Given the description of an element on the screen output the (x, y) to click on. 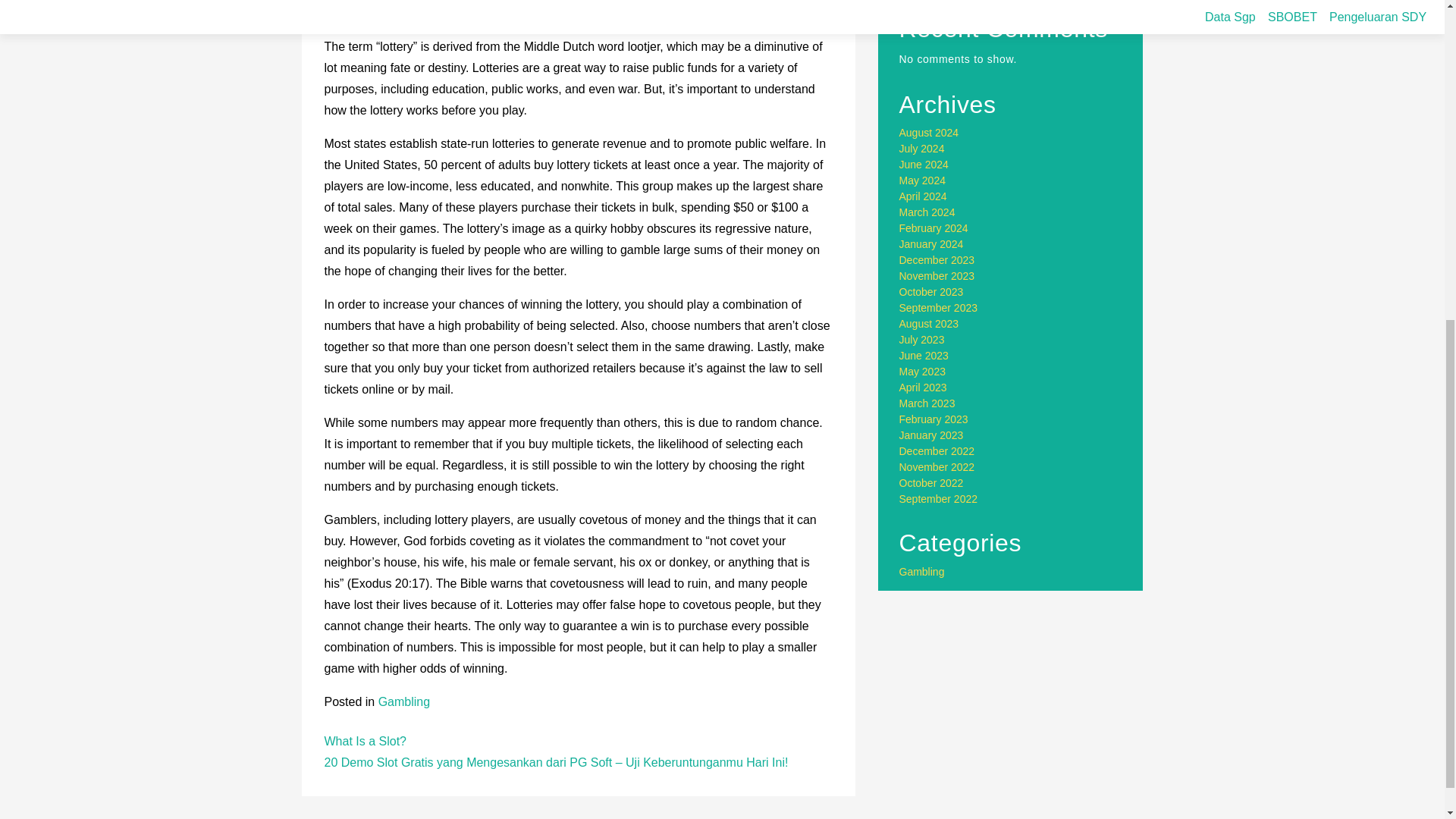
September 2023 (938, 307)
July 2023 (921, 339)
December 2022 (937, 451)
October 2022 (931, 482)
November 2022 (937, 467)
June 2023 (924, 355)
October 2023 (931, 291)
December 2023 (937, 259)
August 2024 (929, 132)
May 2023 (921, 371)
